Given the description of an element on the screen output the (x, y) to click on. 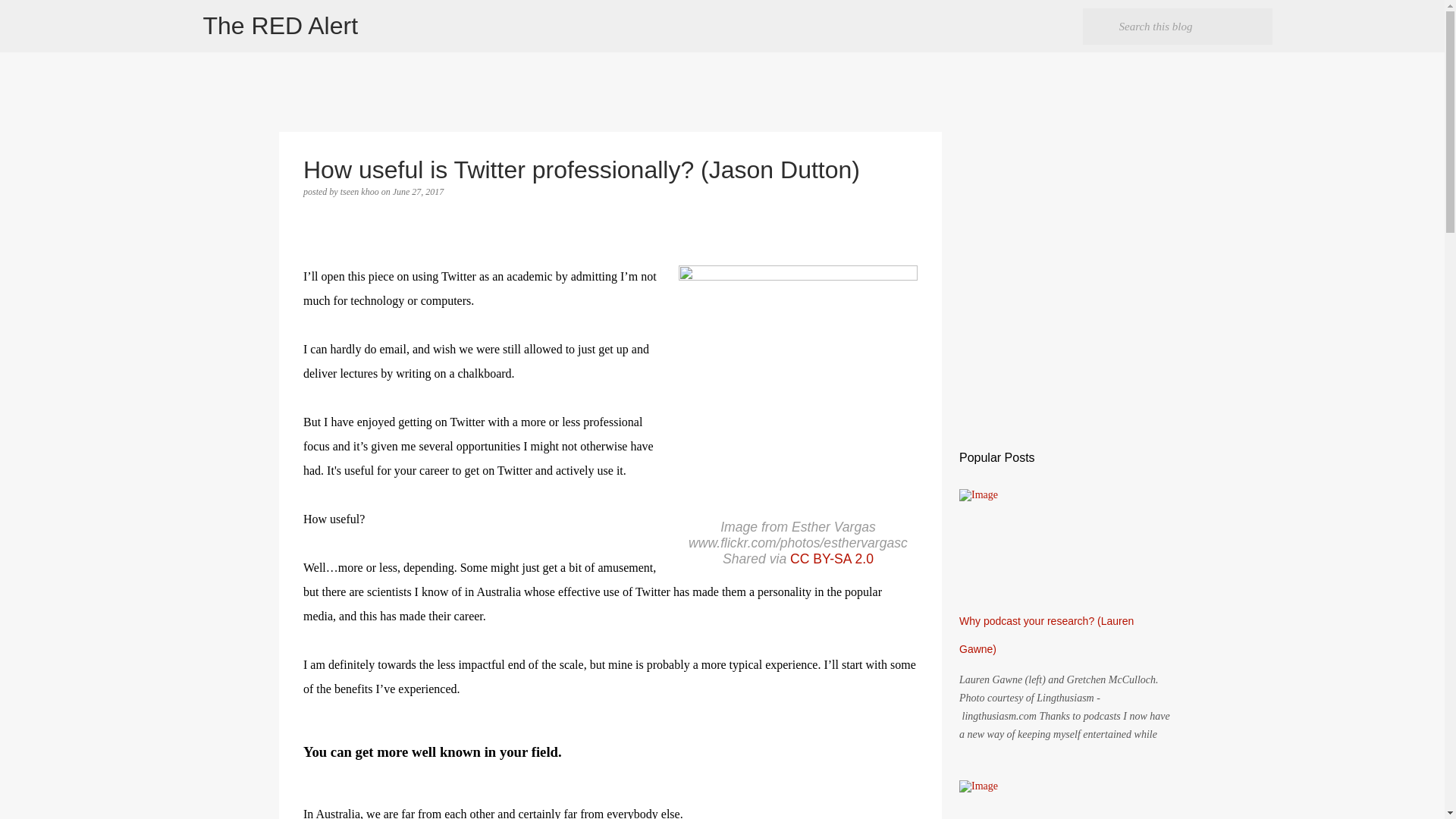
permanent link (418, 191)
June 27, 2017 (418, 191)
The RED Alert (280, 25)
CC BY-SA 2.0 (831, 558)
